Given the description of an element on the screen output the (x, y) to click on. 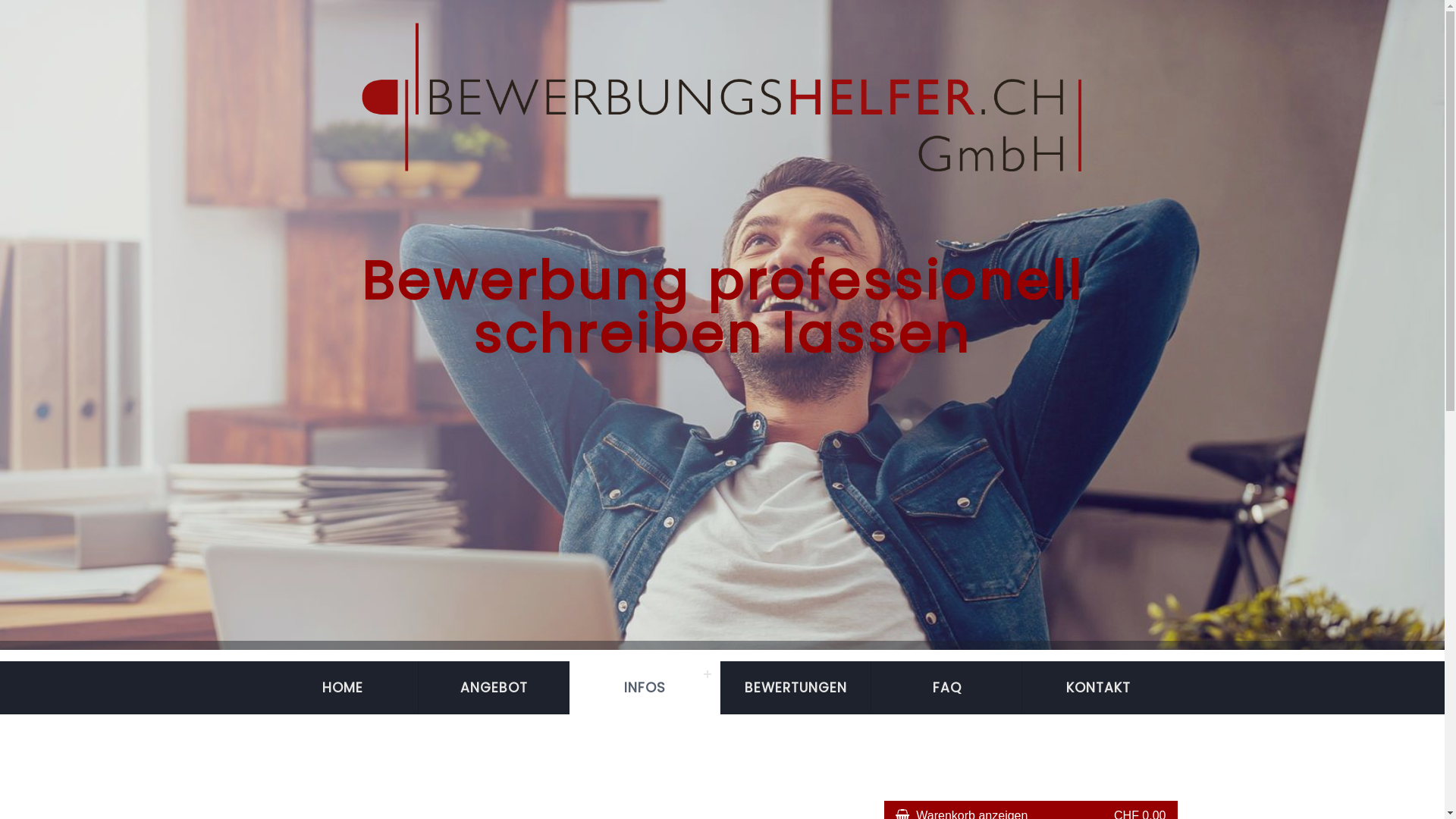
ANGEBOT Element type: text (493, 687)
INFOS Element type: text (644, 687)
HOME Element type: text (341, 687)
FAQ Element type: text (946, 687)
BEWERTUNGEN Element type: text (795, 687)
KONTAKT Element type: text (1097, 687)
